Given the description of an element on the screen output the (x, y) to click on. 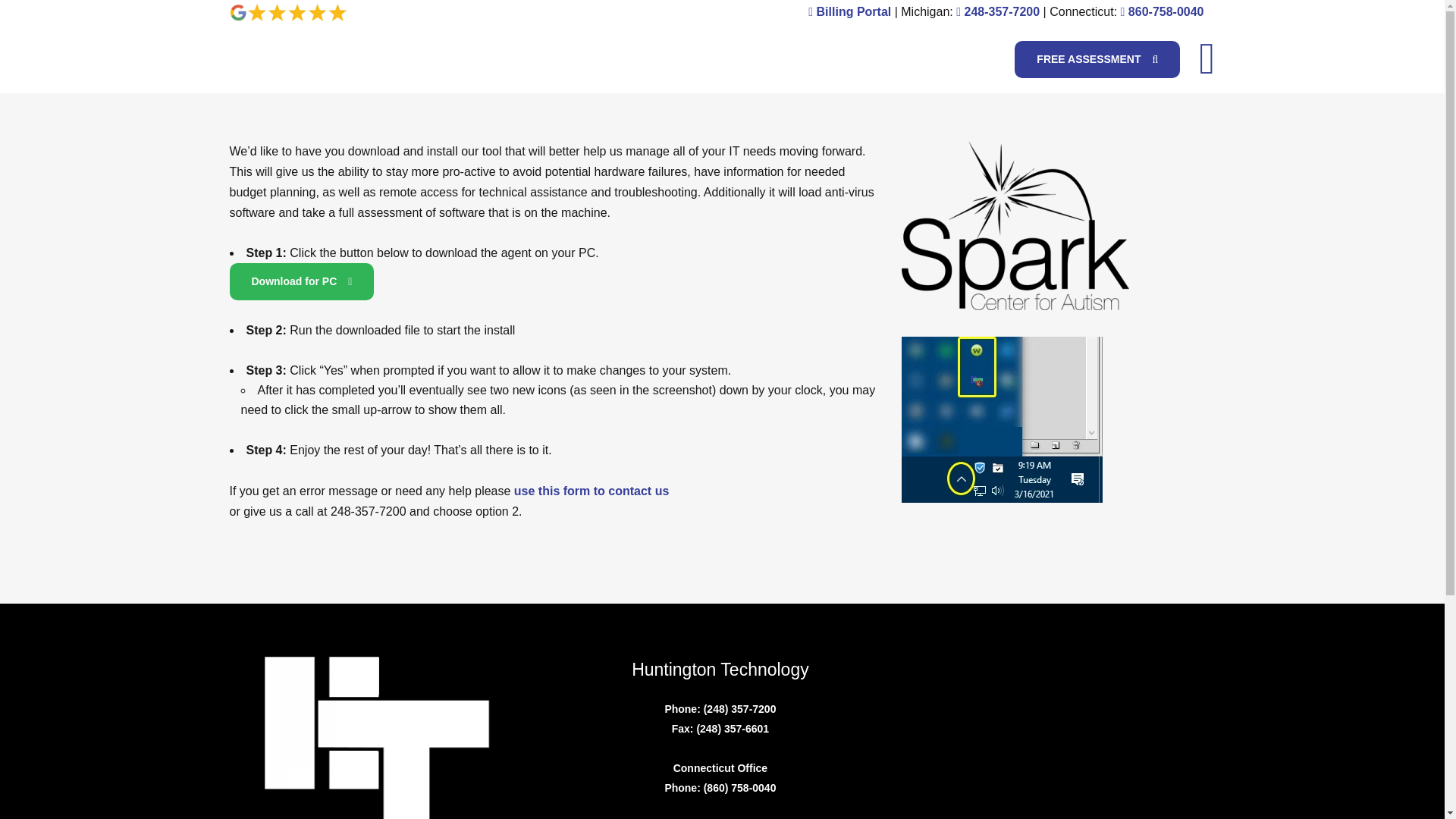
Download for PC (301, 281)
Billing Portal (853, 11)
use this form to contact us (590, 490)
860-758-0040 (1166, 11)
FREE ASSESSMENT (1096, 58)
248-357-7200 (1001, 11)
